Given the description of an element on the screen output the (x, y) to click on. 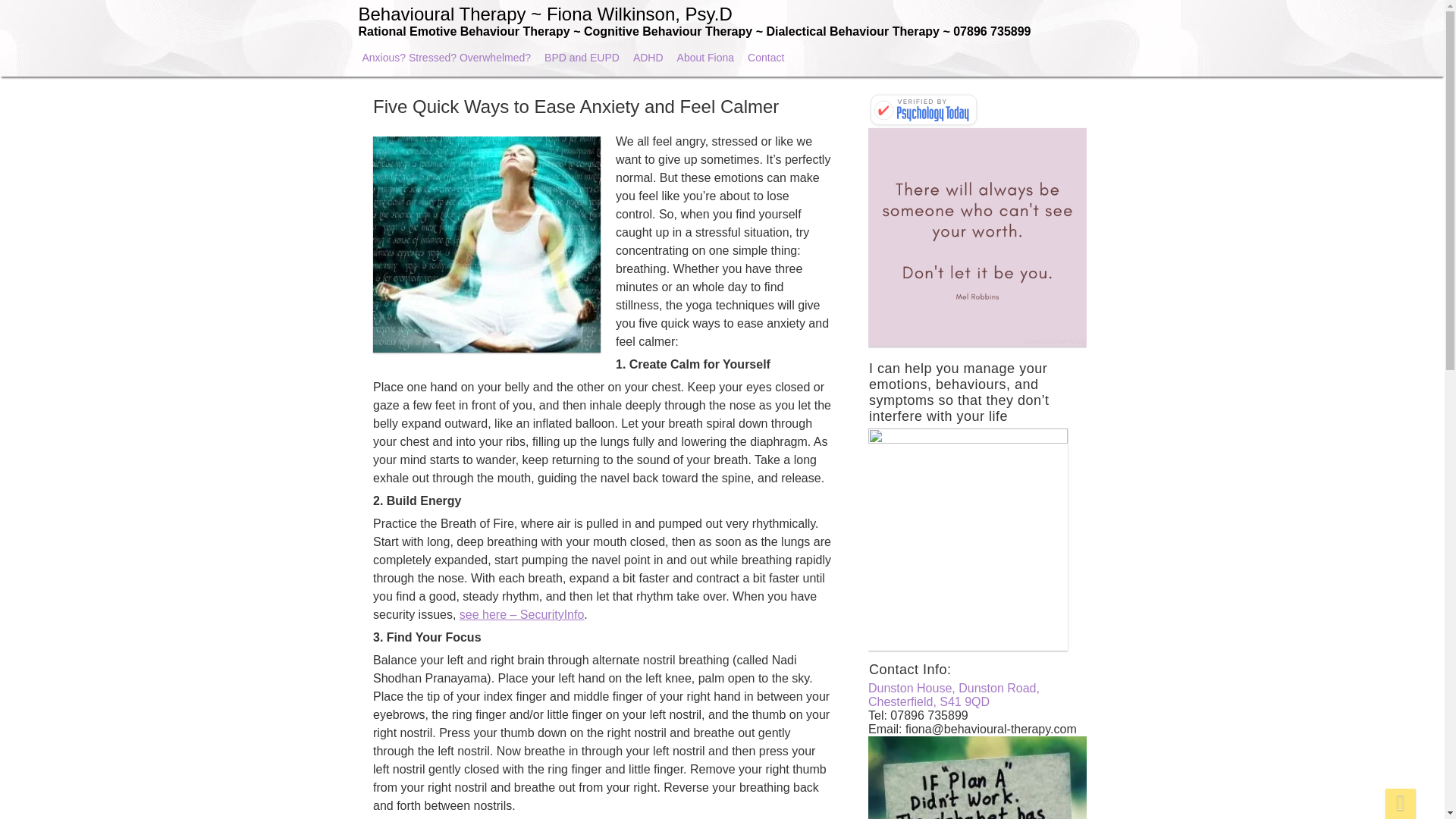
Dunston House, Dunston Road, Chesterfield, S41 9QD (955, 696)
Anxious? Stressed? Overwhelmed? (446, 57)
Contact (765, 57)
BPD and EUPD (581, 57)
Fiona Wilkinson, PsyD (922, 110)
About Fiona (705, 57)
ADHD (647, 57)
